Given the description of an element on the screen output the (x, y) to click on. 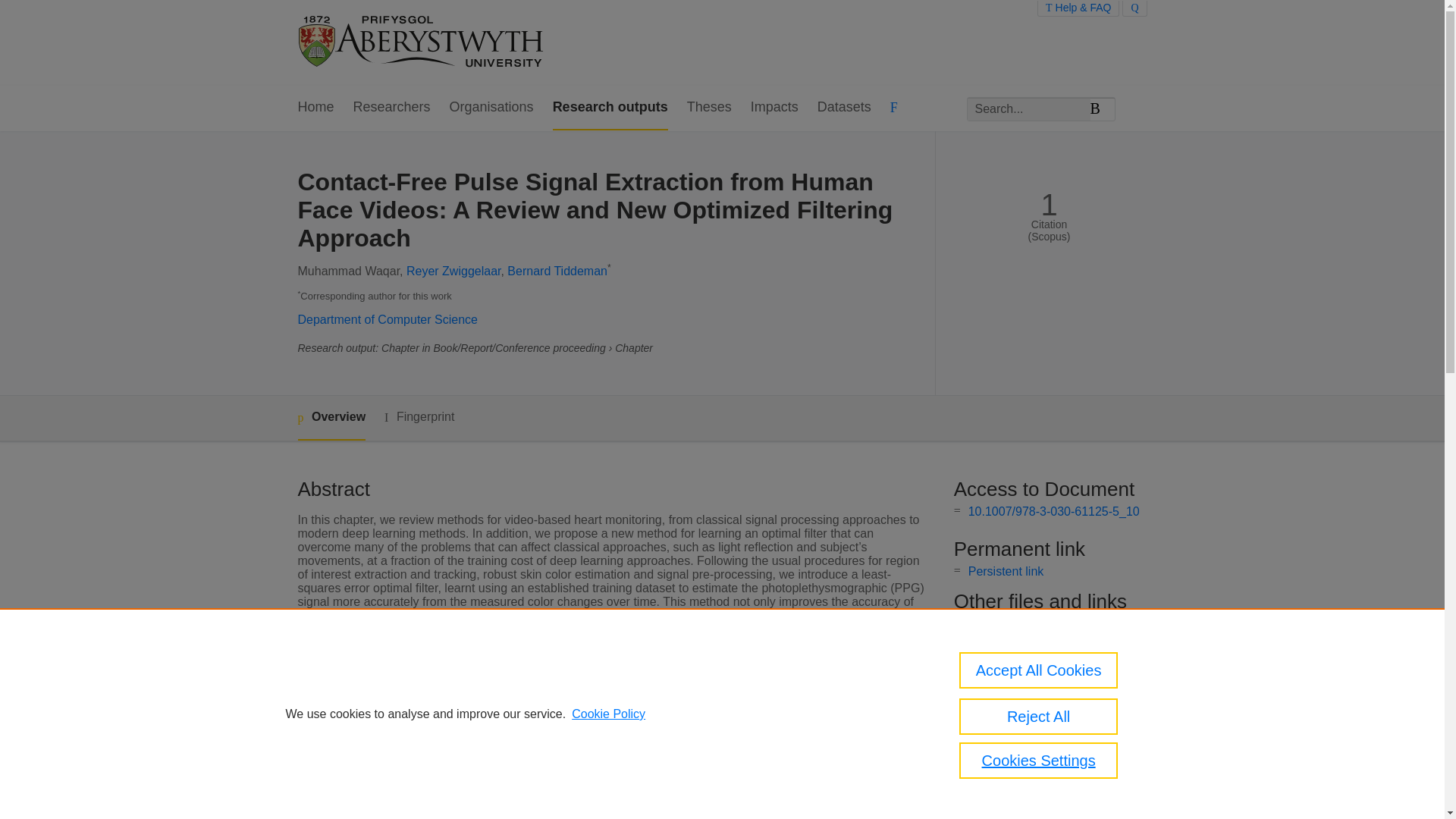
Fingerprint (419, 416)
Bernard Tiddeman (556, 270)
Impacts (774, 107)
Overview (331, 417)
Department of Computer Science (387, 318)
Research outputs (610, 107)
Researchers (391, 107)
Link to publication in Scopus (1045, 623)
Reyer Zwiggelaar (453, 270)
Datasets (843, 107)
Persistent link (1005, 571)
Aberystwyth Research Portal Home (422, 42)
Theses (709, 107)
Springer Nature (553, 760)
